Given the description of an element on the screen output the (x, y) to click on. 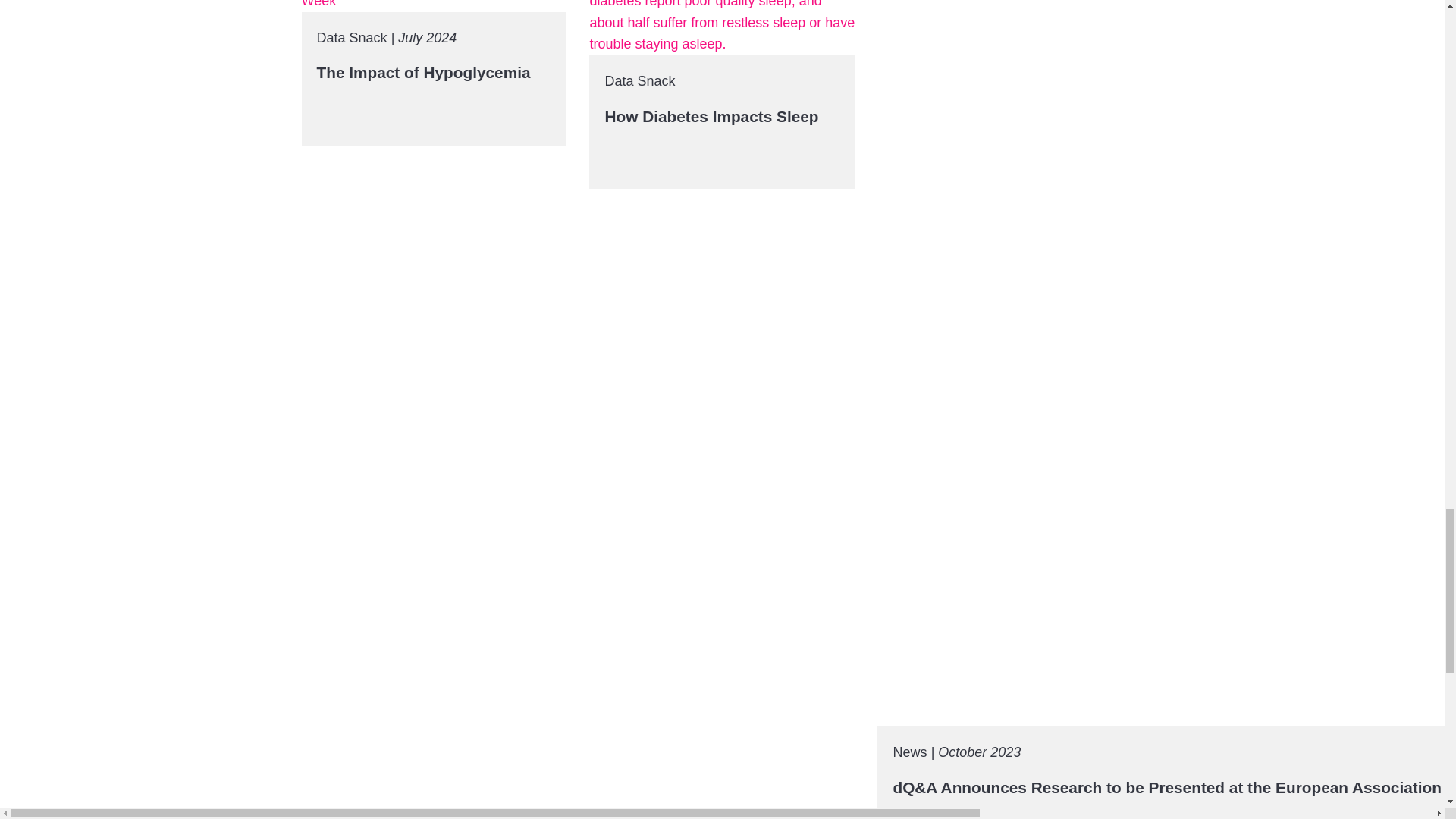
How Diabetes Impacts Sleep (711, 116)
The Impact of Hypoglycemia (424, 72)
